Given the description of an element on the screen output the (x, y) to click on. 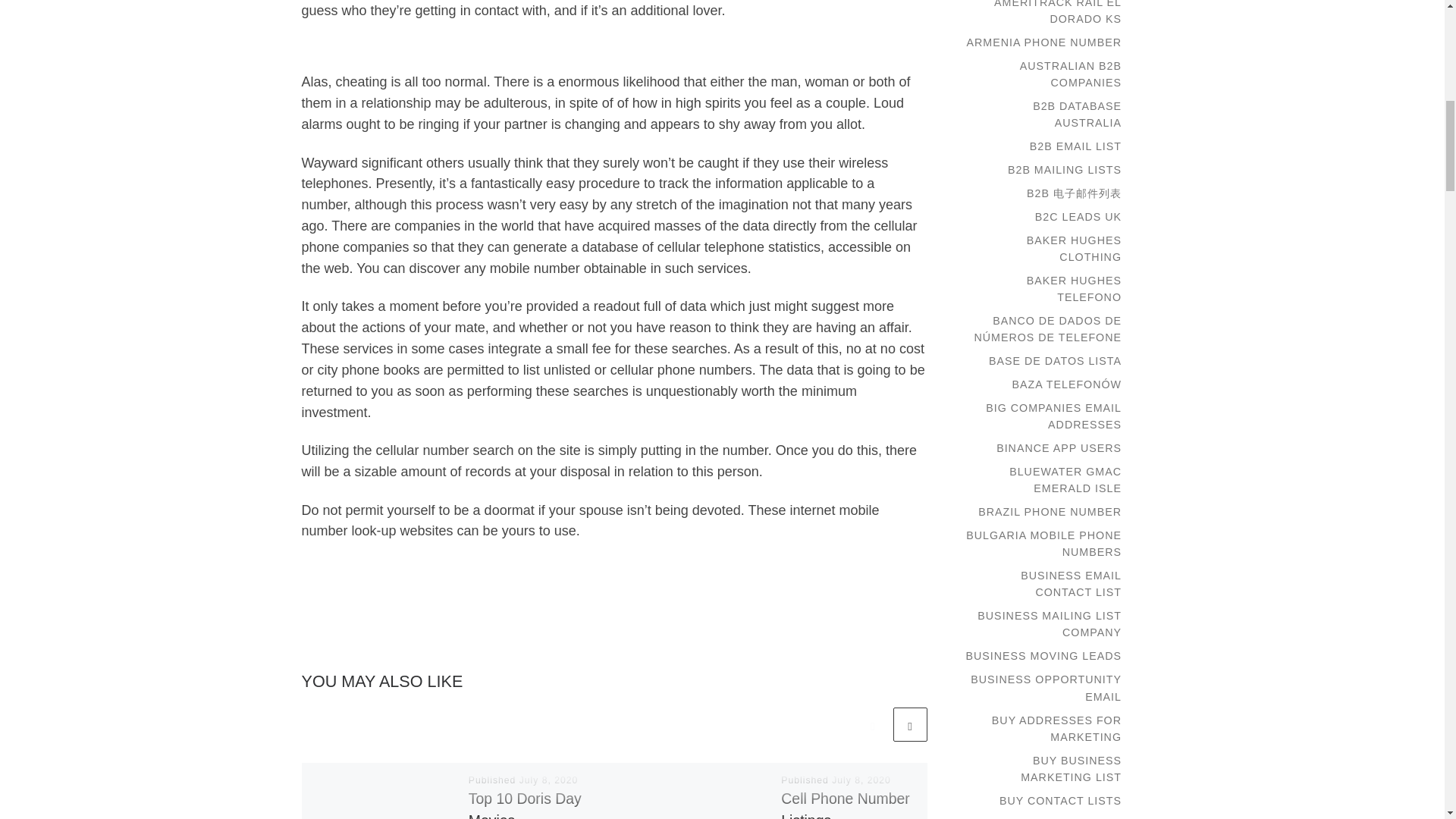
Previous related articles (872, 724)
Top 10 Doris Day Movies (524, 804)
July 8, 2020 (861, 779)
Next related articles (910, 724)
Cell Phone Number Listings (845, 804)
July 8, 2020 (548, 779)
